Given the description of an element on the screen output the (x, y) to click on. 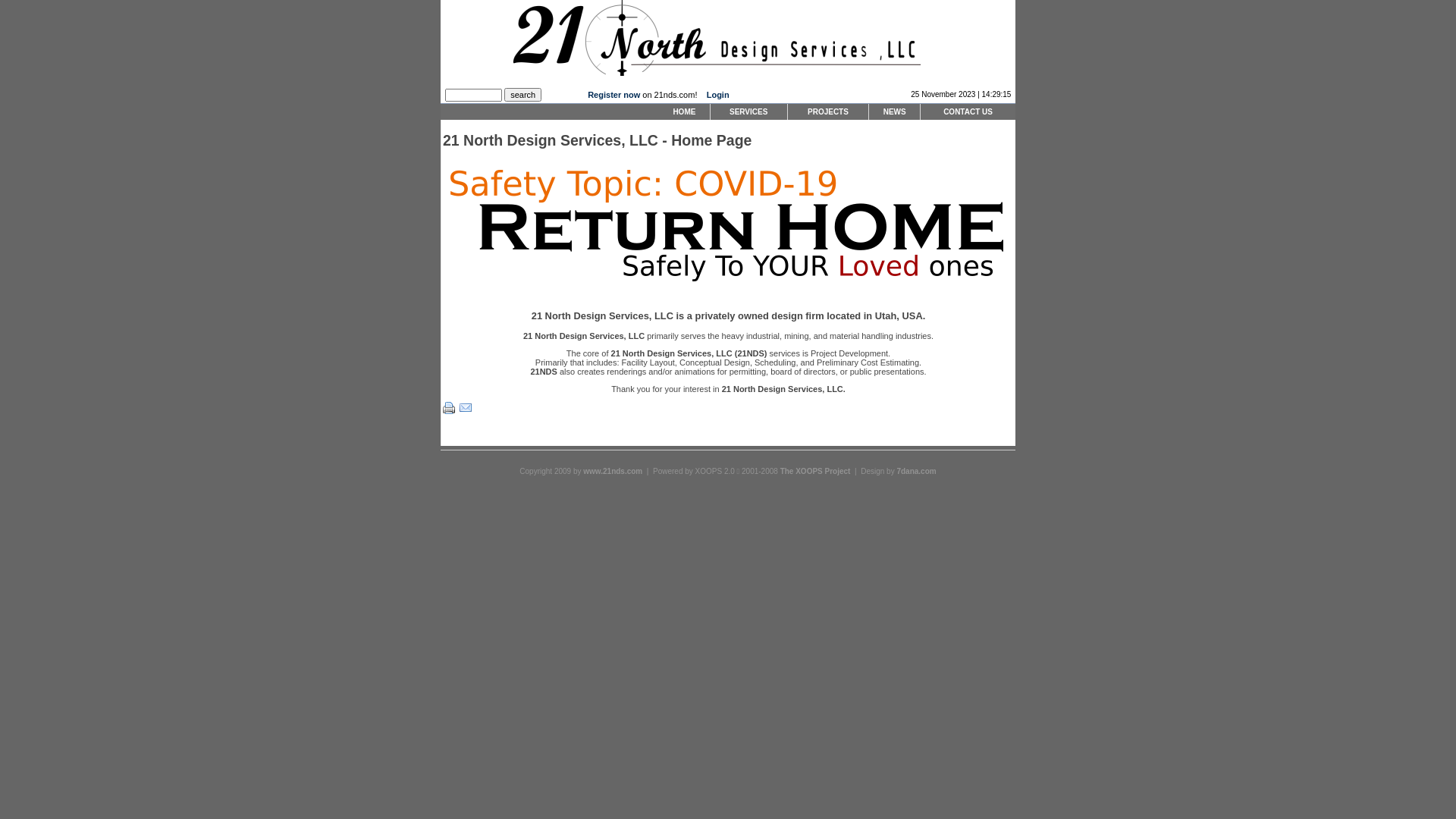
7dana.com Element type: text (915, 471)
www.21nds.com Element type: text (612, 471)
SERVICES Element type: text (748, 111)
NEWS Element type: text (894, 111)
PROJECTS Element type: text (828, 111)
CONTACT US Element type: text (967, 111)
The XOOPS Project Element type: text (815, 471)
search Element type: text (522, 94)
Advertisement Element type: hover (322, 230)
Login Element type: text (717, 94)
Register now Element type: text (613, 94)
HOME Element type: text (683, 111)
